Given the description of an element on the screen output the (x, y) to click on. 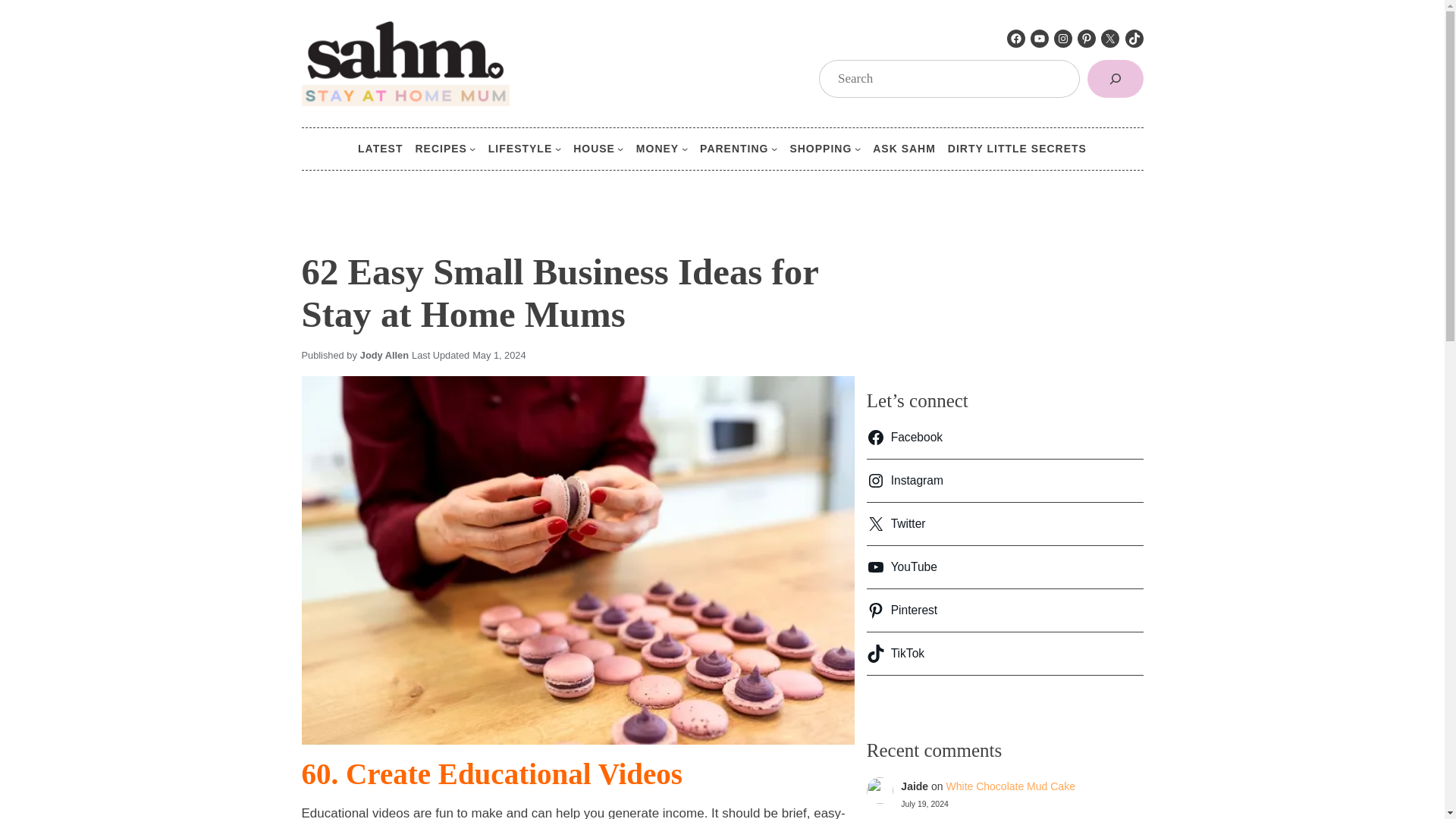
TikTok (1133, 38)
Pinterest (1086, 38)
Instagram (1062, 38)
MONEY (657, 148)
Facebook (1016, 38)
LIFESTYLE (519, 148)
X (1109, 38)
HOUSE (593, 148)
RECIPES (439, 148)
LATEST (380, 148)
